Given the description of an element on the screen output the (x, y) to click on. 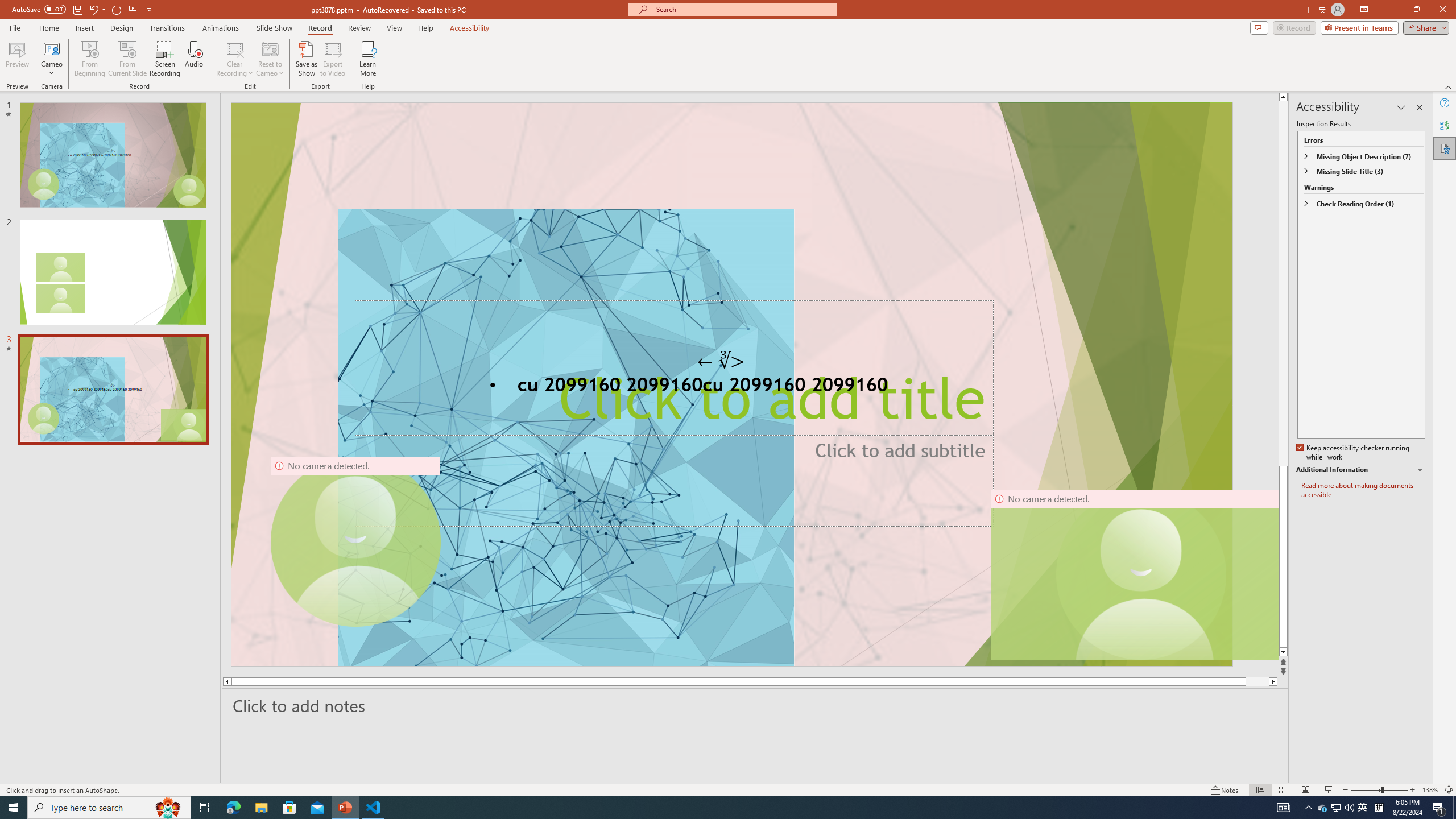
Export to Video (332, 58)
Camera 9, No camera detected. (355, 542)
From Beginning... (89, 58)
Save as Show (306, 58)
Title TextBox (673, 368)
Clear Recording (234, 58)
